Given the description of an element on the screen output the (x, y) to click on. 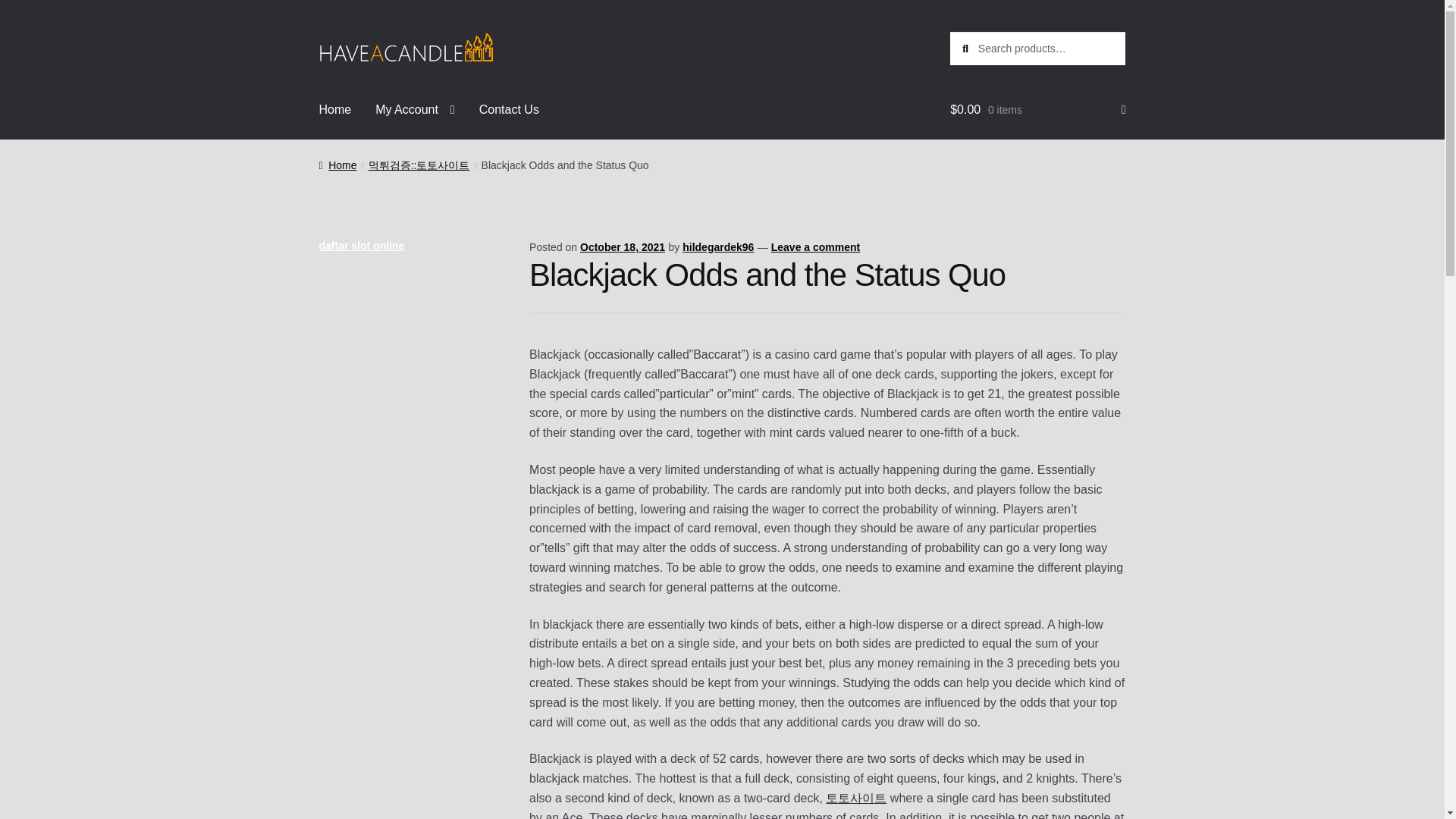
View your shopping cart (1037, 109)
Leave a comment (815, 246)
Home (337, 164)
Home (335, 109)
daftar slot online (361, 245)
My Account (414, 109)
October 18, 2021 (622, 246)
hildegardek96 (718, 246)
Contact Us (509, 109)
